Given the description of an element on the screen output the (x, y) to click on. 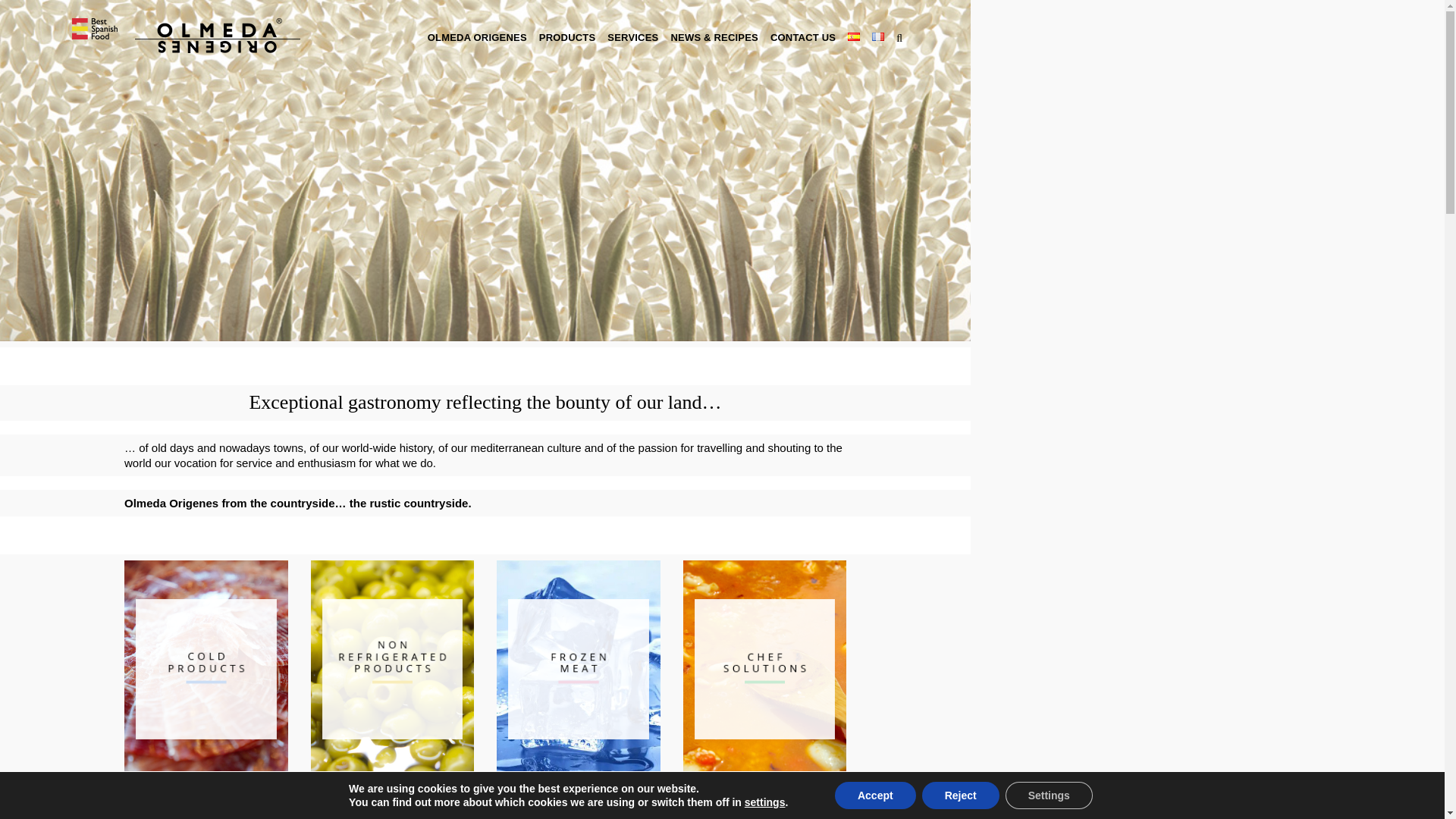
PRODUCTS (567, 38)
CONTACT US (802, 38)
OLMEDA ORIGENES (477, 38)
